Given the description of an element on the screen output the (x, y) to click on. 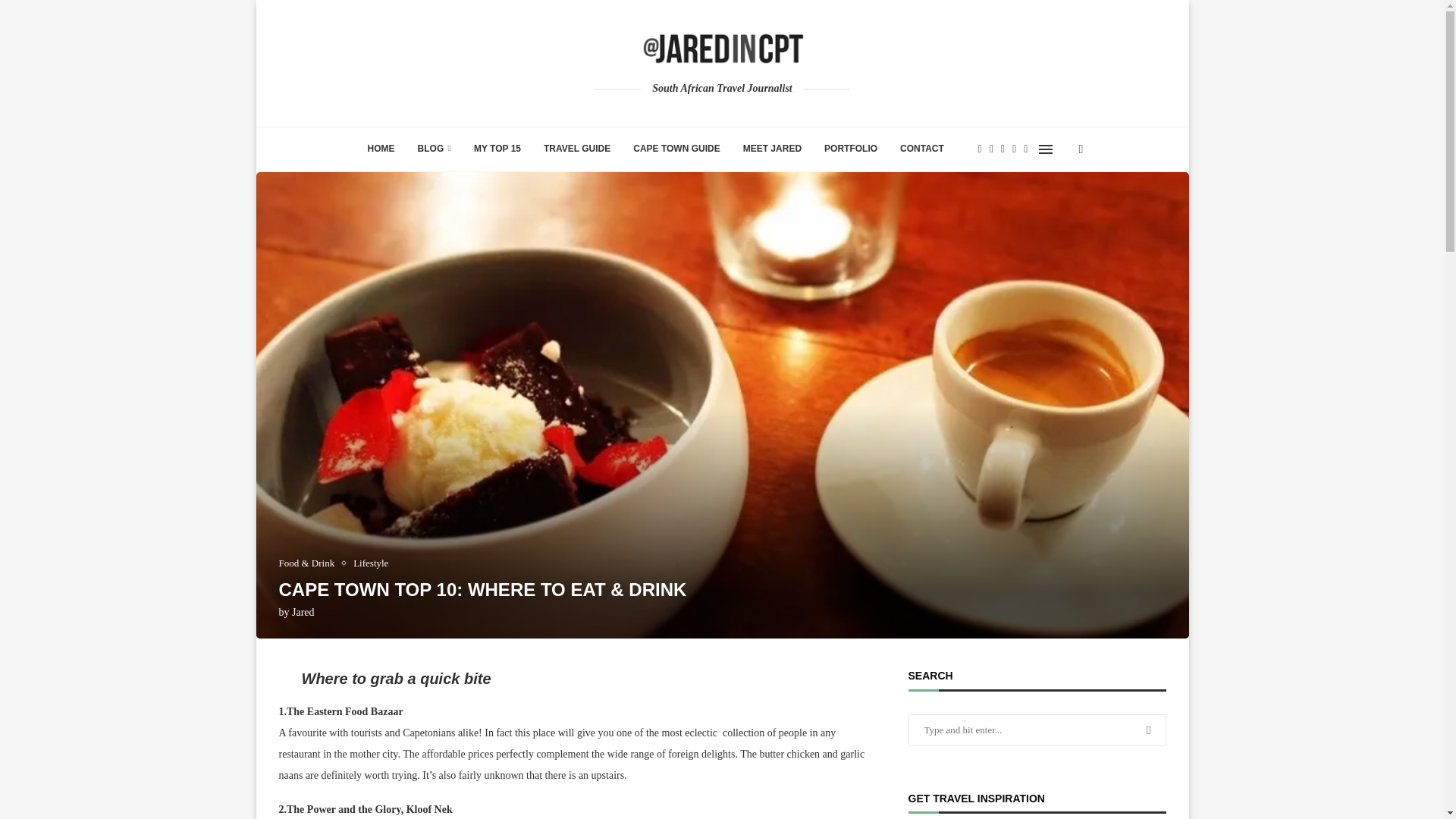
MY TOP 15 (497, 148)
PORTFOLIO (850, 148)
CONTACT (921, 148)
BLOG (434, 148)
MEET JARED (772, 148)
CAPE TOWN GUIDE (675, 148)
Lifestyle (370, 563)
Jared (303, 612)
TRAVEL GUIDE (576, 148)
HOME (381, 148)
